Given the description of an element on the screen output the (x, y) to click on. 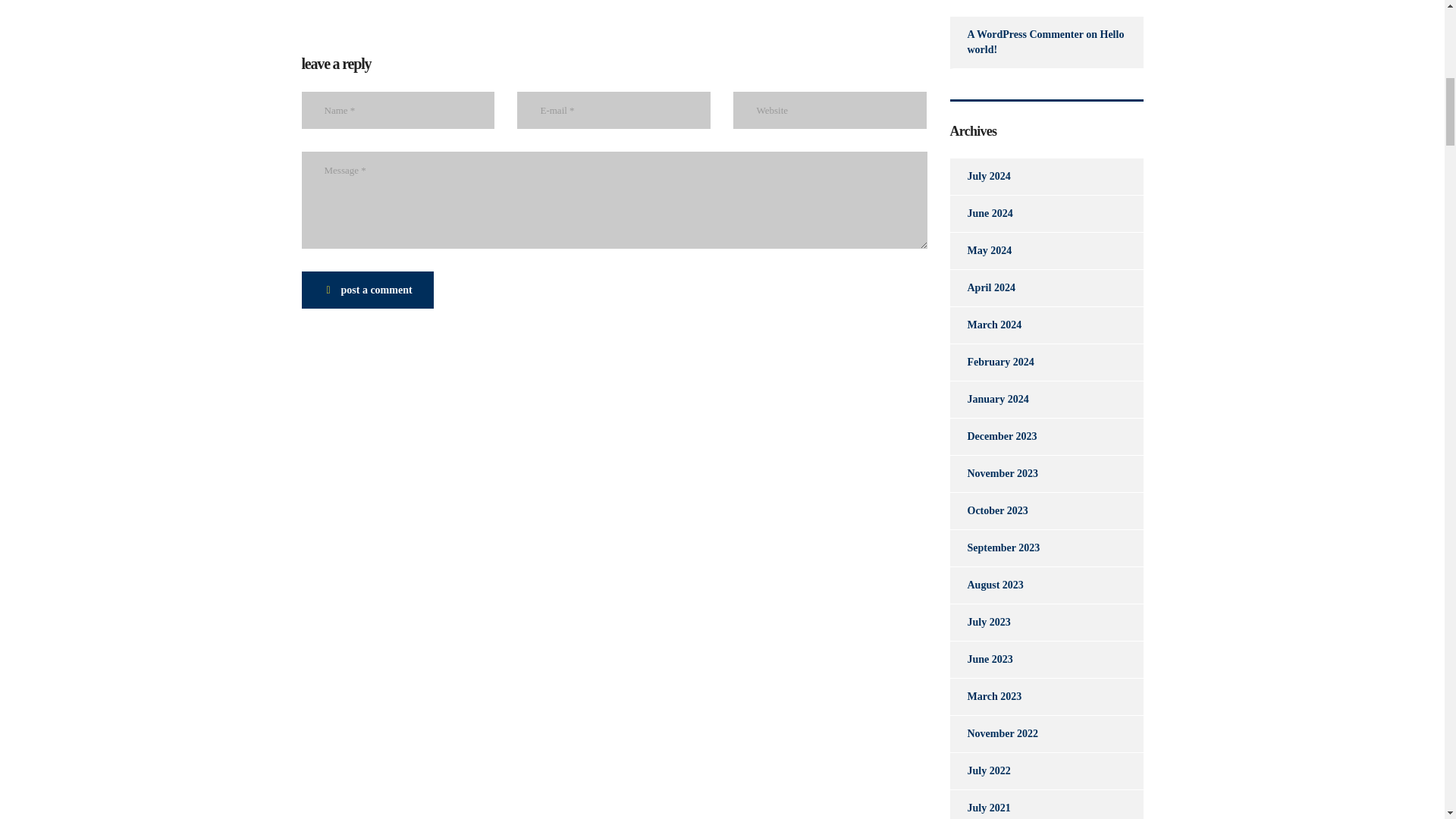
post a comment (367, 289)
A WordPress Commenter (1025, 34)
